Given the description of an element on the screen output the (x, y) to click on. 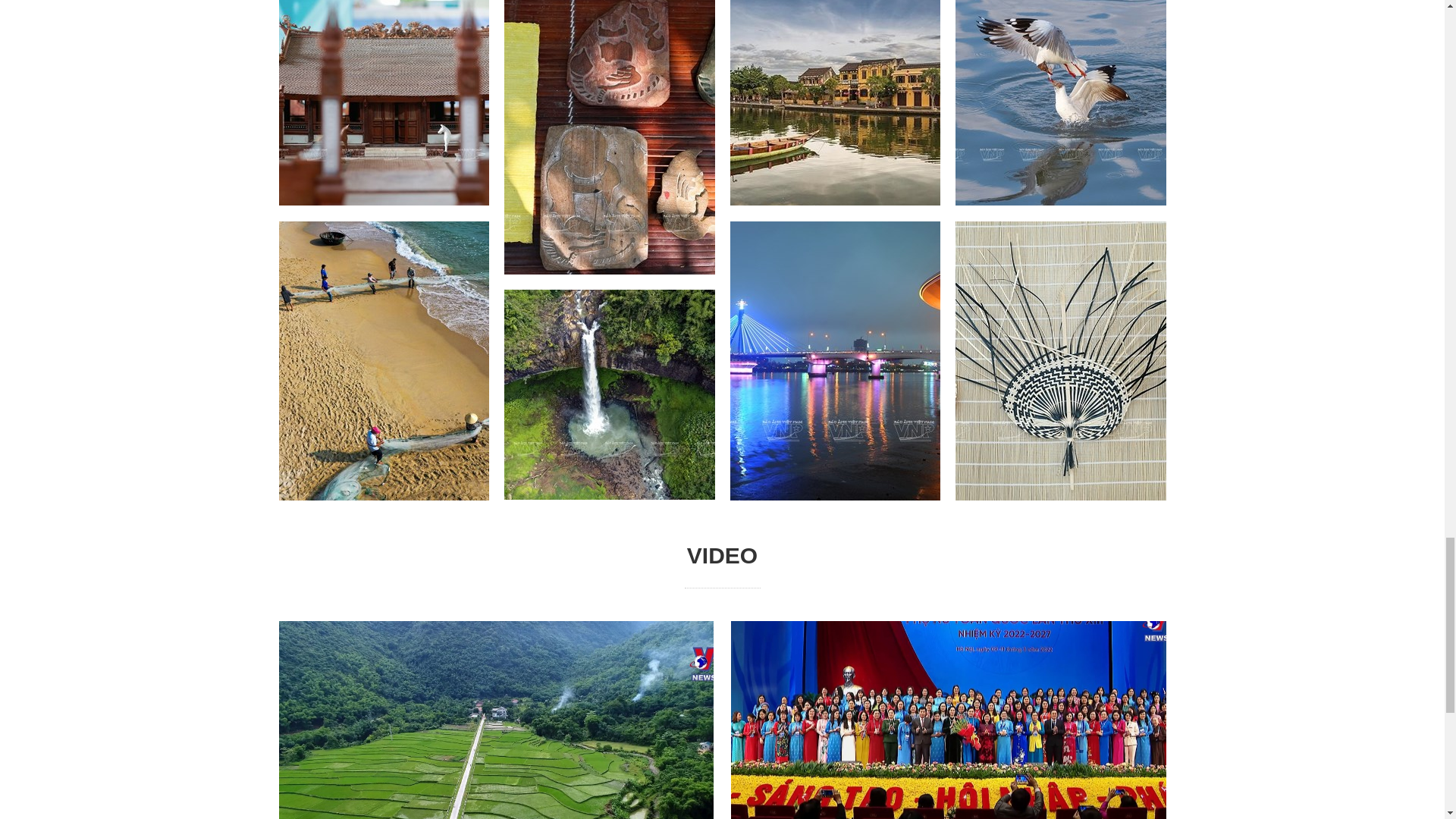
Smallest wooden miniature of communal house in Vietnam (384, 102)
Photos of endemic birds in Vietnam on display (1060, 102)
Binh Xa village home to Bodhi-leave-shaped fans (1060, 360)
Hoi An enters top 15 cities in Asia (834, 102)
Fishermen pull in nets in Da Nang city (384, 360)
Bridges over Han river (834, 360)
Pristine Lieng Nung waterfall in Dak Nong province (608, 394)
